Given the description of an element on the screen output the (x, y) to click on. 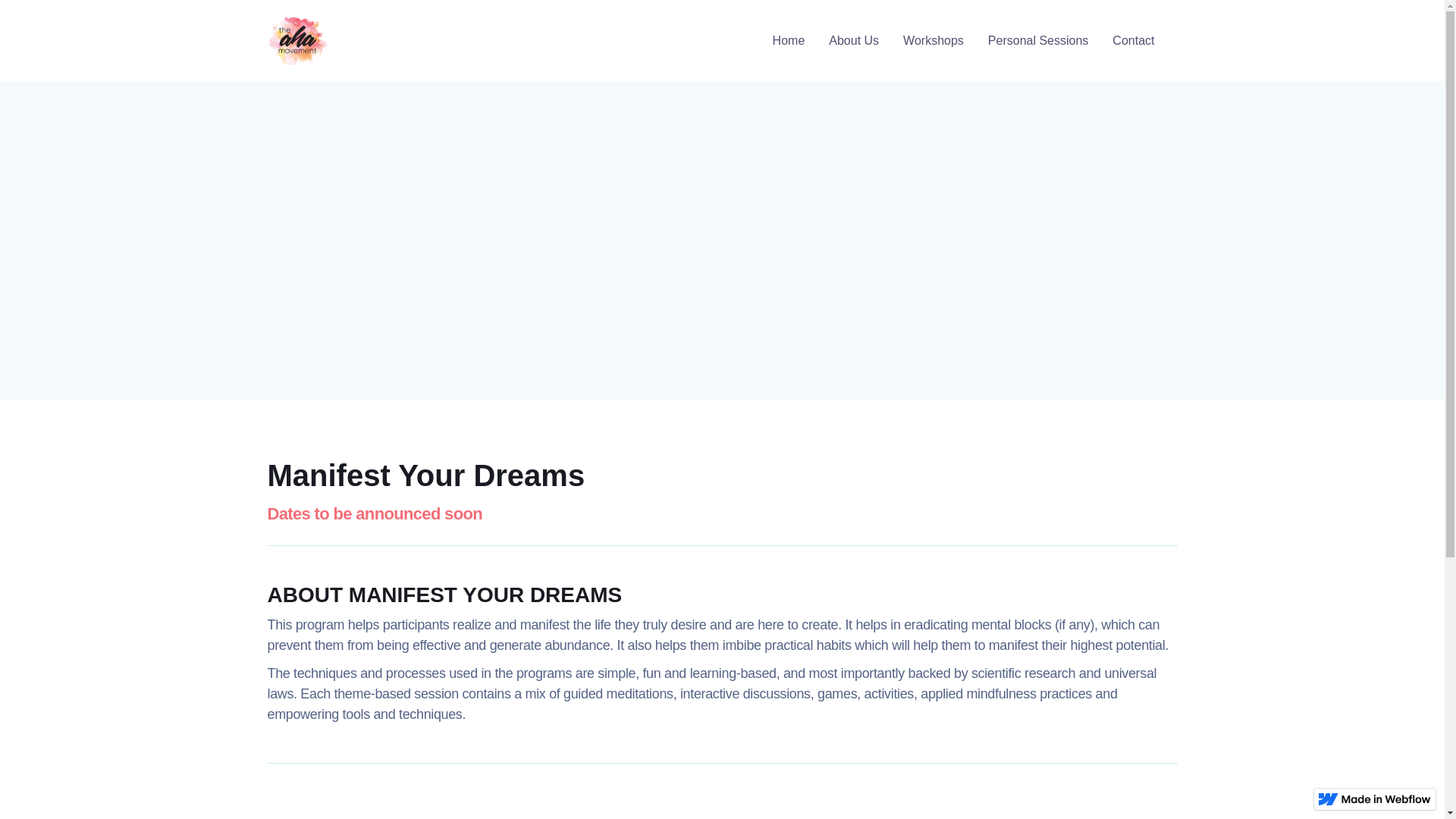
Personal Sessions (1037, 40)
Workshops (933, 40)
Home (788, 40)
Contact (1133, 40)
About Us (853, 40)
